Given the description of an element on the screen output the (x, y) to click on. 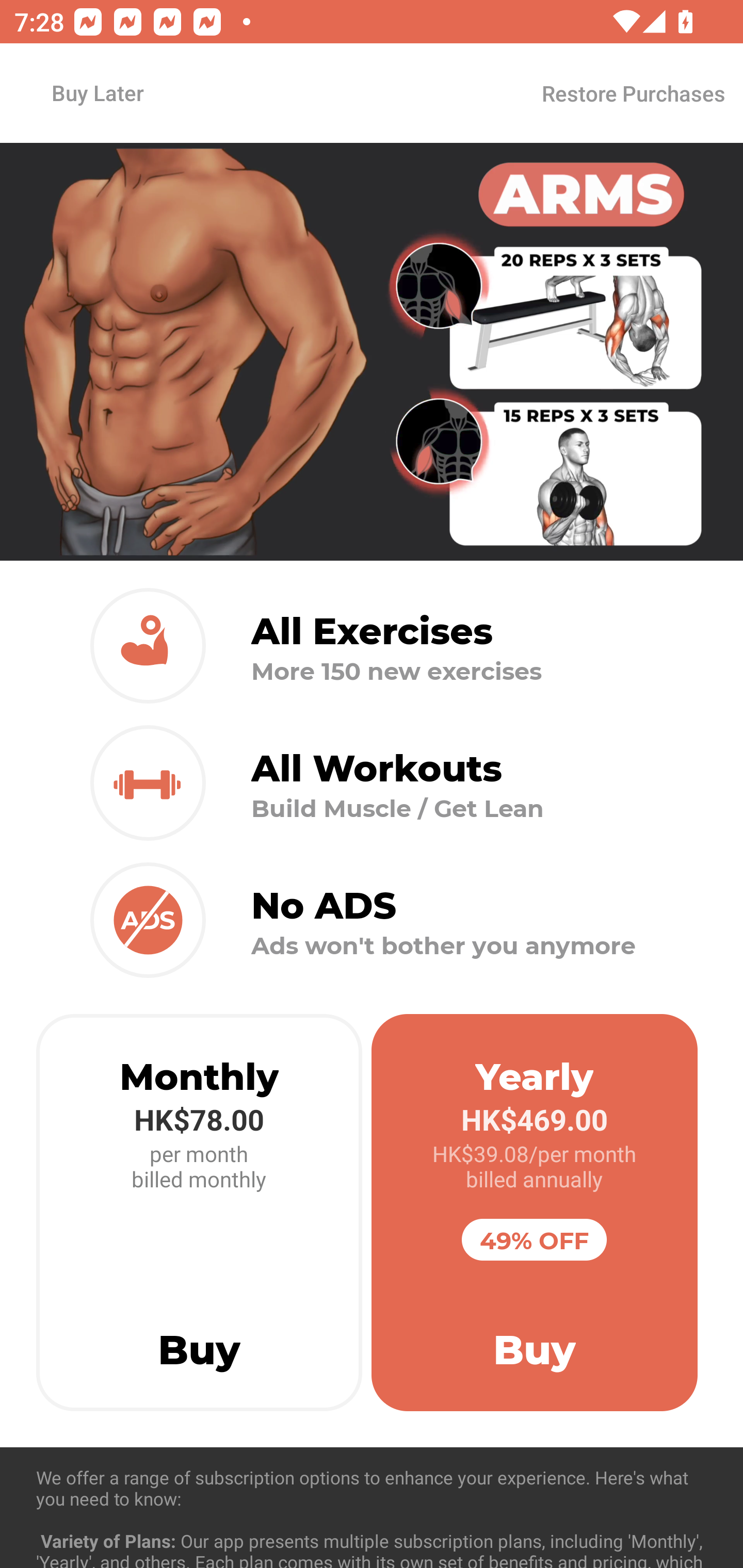
Restore Purchases (632, 92)
Buy Later (96, 92)
Monthly HK$78.00 per month
billed monthly Buy (199, 1212)
